Given the description of an element on the screen output the (x, y) to click on. 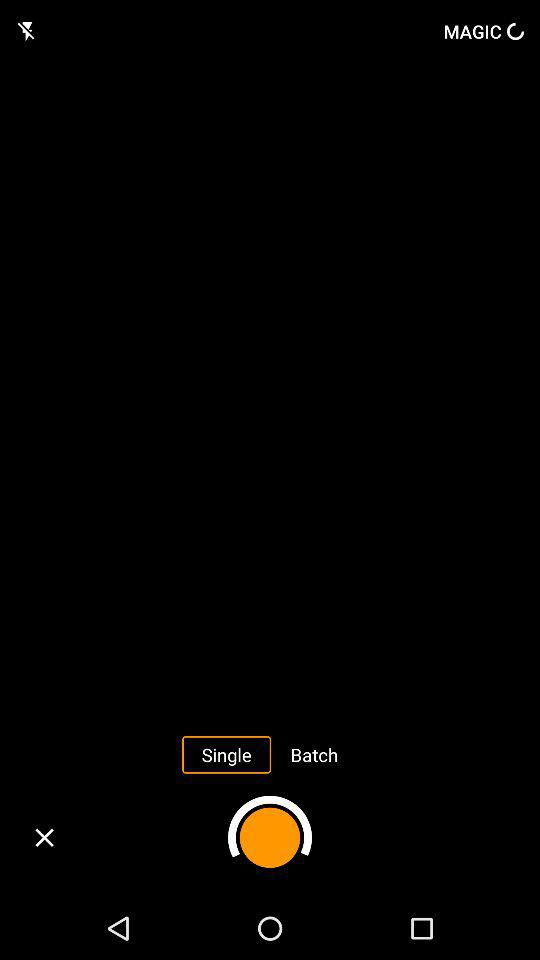
open the item to the right of the single (314, 754)
